Given the description of an element on the screen output the (x, y) to click on. 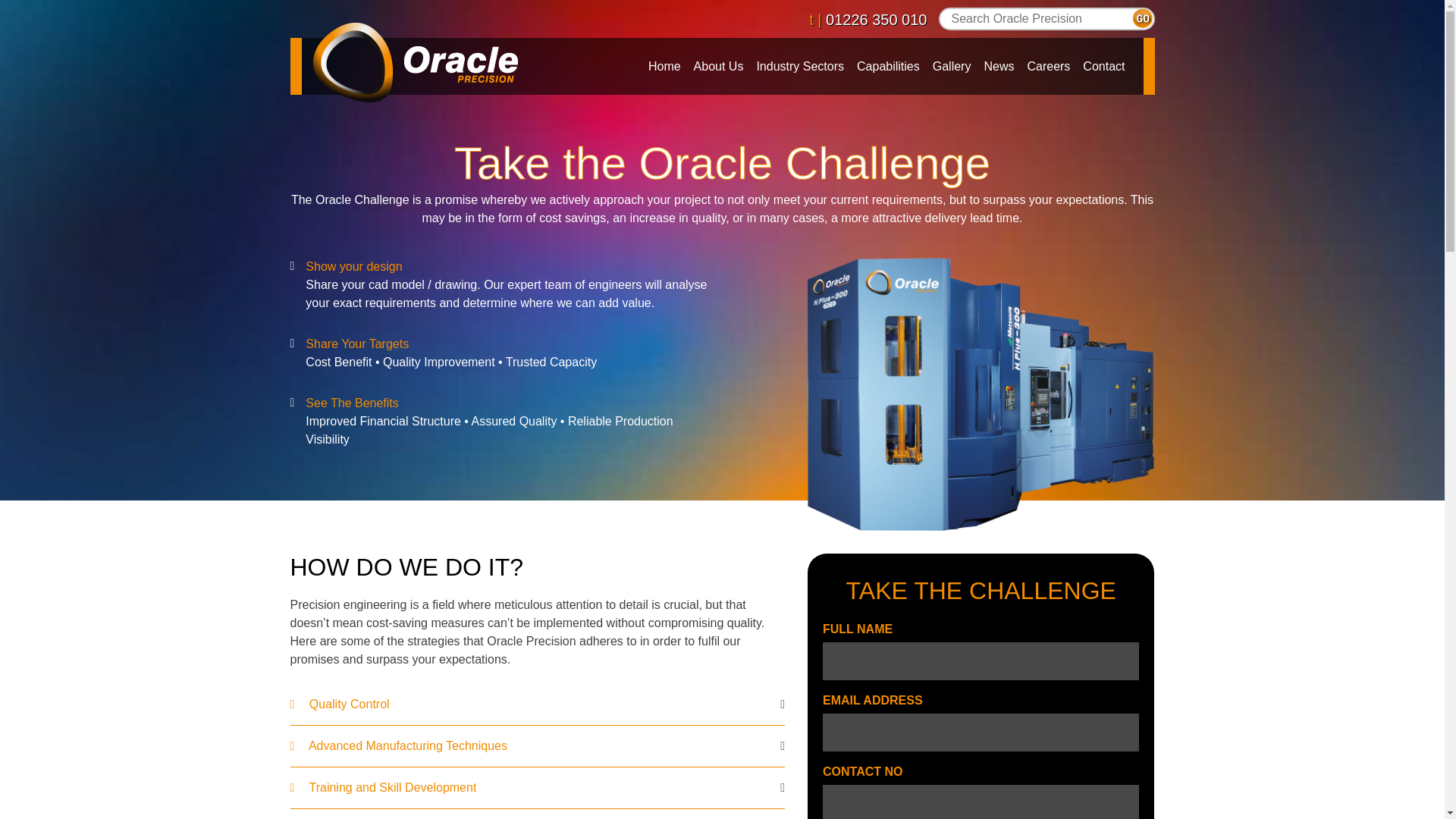
Industry Sectors (799, 66)
About Us (718, 66)
Capabilities (888, 66)
Process Optimisation (536, 814)
Contact (1104, 66)
Careers (1047, 66)
Advanced Manufacturing Techniques (536, 745)
SEARCH (1142, 18)
Gallery (951, 66)
Training and Skill Development (536, 787)
